Given the description of an element on the screen output the (x, y) to click on. 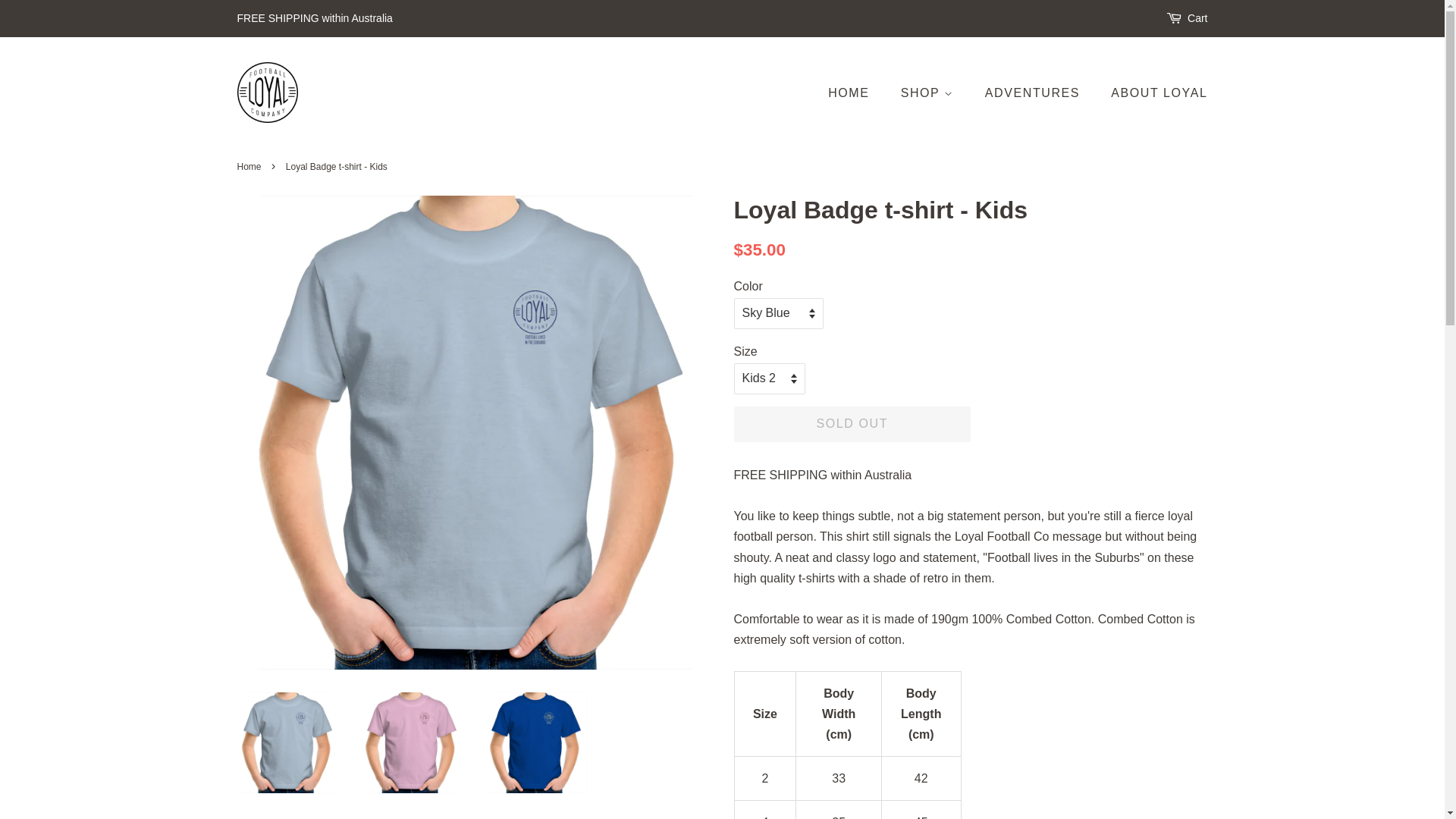
SOLD OUT Element type: text (852, 424)
Cart Element type: text (1197, 18)
Home Element type: text (250, 166)
ABOUT LOYAL Element type: text (1153, 92)
ADVENTURES Element type: text (1034, 92)
SHOP Element type: text (929, 92)
HOME Element type: text (856, 92)
